Given the description of an element on the screen output the (x, y) to click on. 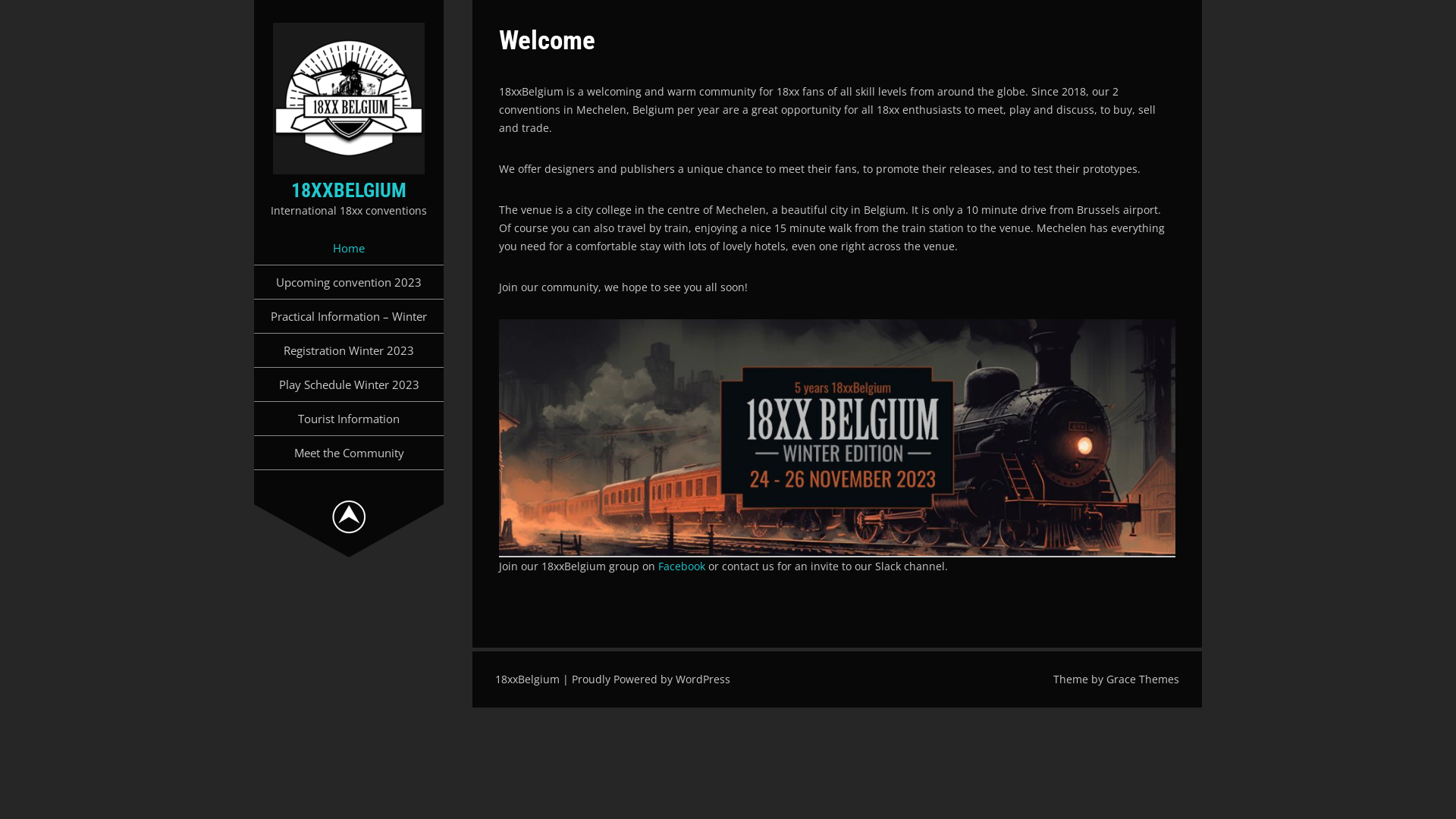
Facebook Element type: text (683, 565)
Home Element type: text (348, 247)
Upcoming convention 2023 Element type: text (348, 281)
Registration Winter 2023 Element type: text (348, 350)
Play Schedule Winter 2023 Element type: text (348, 384)
18XXBELGIUM Element type: text (348, 189)
Tourist Information Element type: text (348, 418)
Meet the Community Element type: text (348, 452)
